Given the description of an element on the screen output the (x, y) to click on. 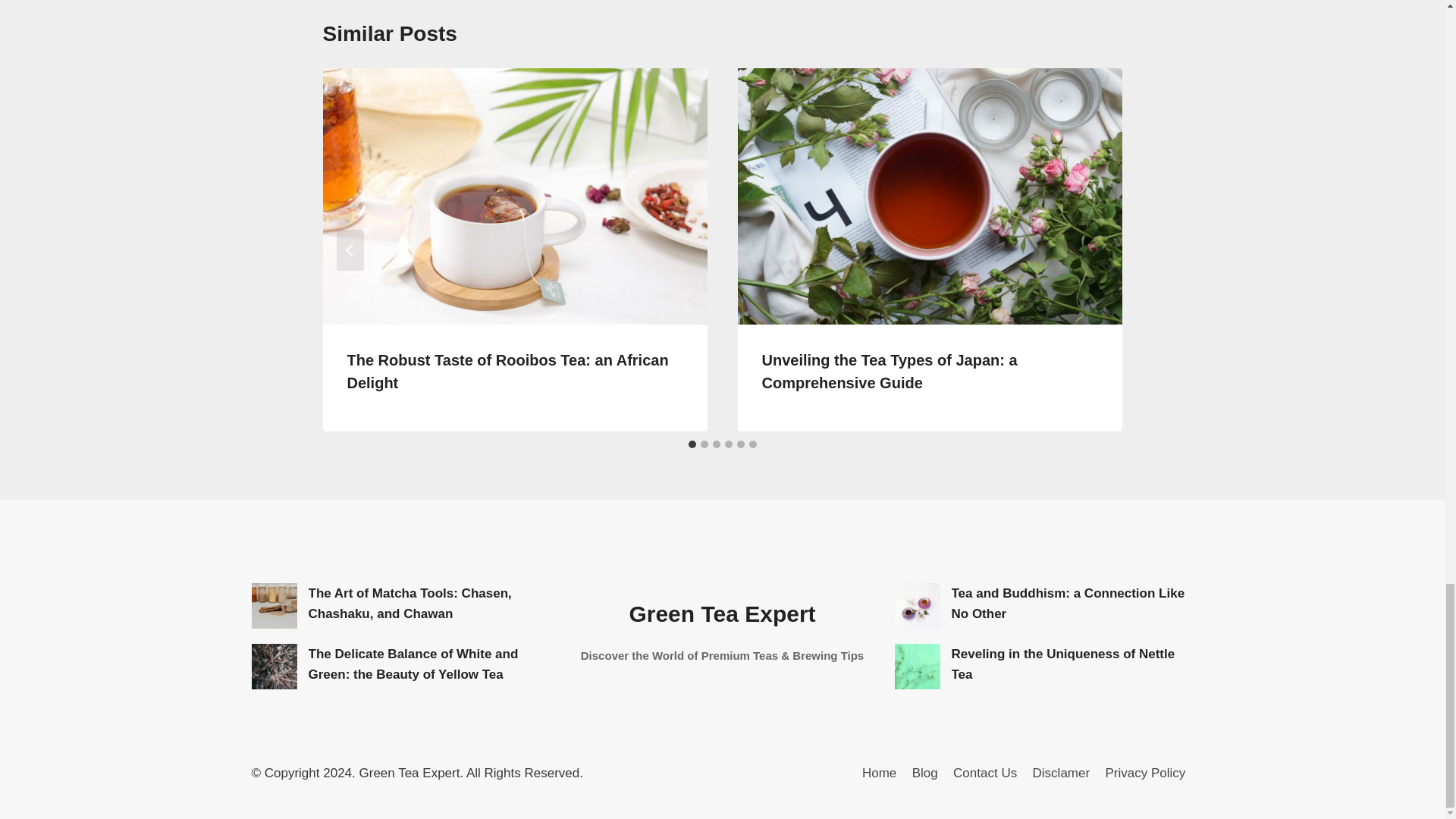
Reveling in the Uniqueness of Nettle Tea (917, 666)
Tea and Buddhism: a Connection Like No Other (917, 605)
The Robust Taste of Rooibos Tea: an African Delight (507, 371)
Unveiling the Tea Types of Japan: a Comprehensive Guide (888, 371)
The Art of Matcha Tools: Chasen, Chashaku, and Chawan (274, 605)
